Given the description of an element on the screen output the (x, y) to click on. 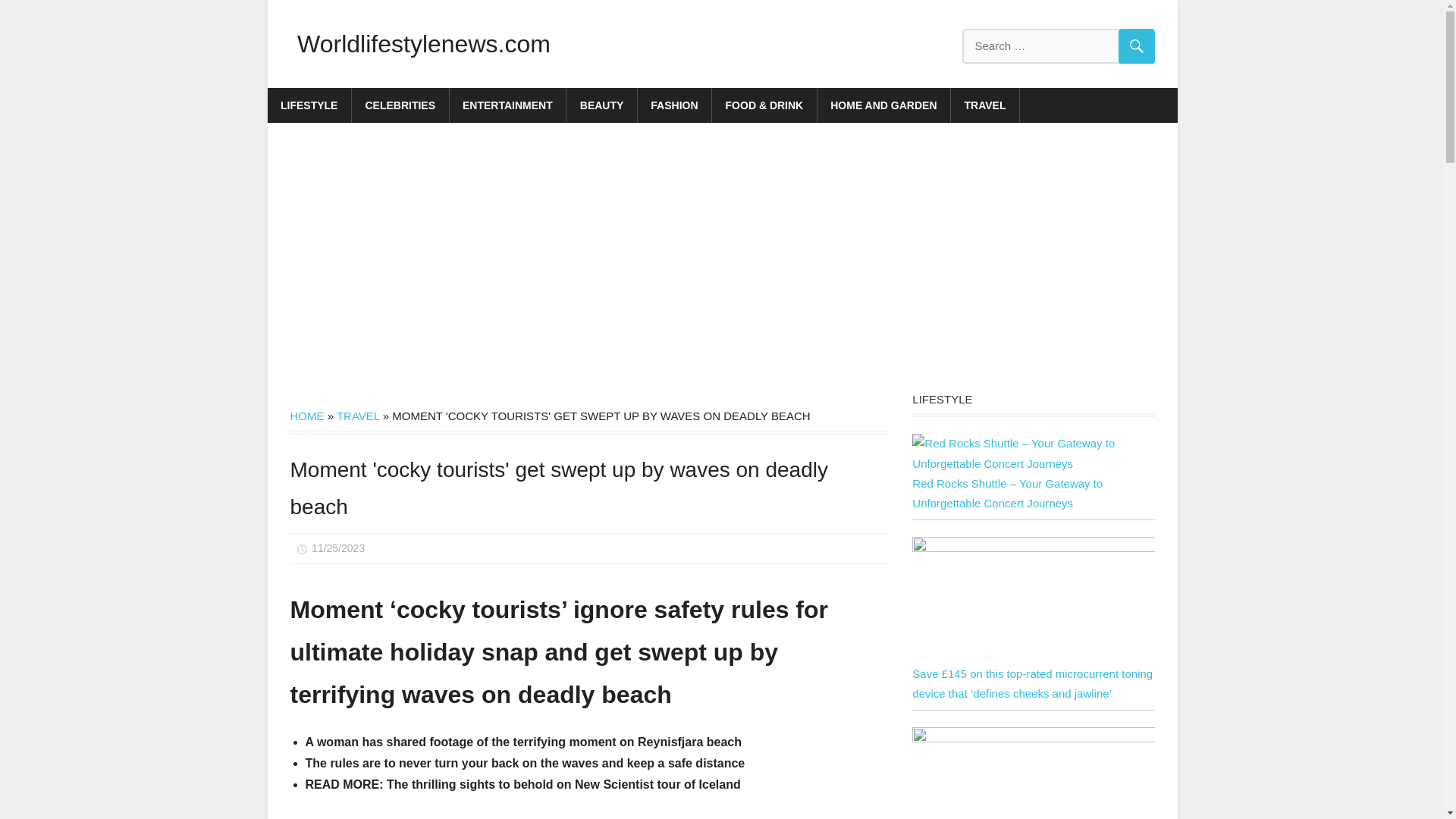
BEAUTY (601, 104)
CELEBRITIES (400, 104)
17:40 (338, 548)
ENTERTAINMENT (508, 104)
HOME AND GARDEN (883, 104)
HOME (306, 415)
Search for: (1057, 46)
LIFESTYLE (308, 104)
TRAVEL (358, 415)
FASHION (674, 104)
TRAVEL (985, 104)
Worldlifestylenews.com (423, 43)
